Given the description of an element on the screen output the (x, y) to click on. 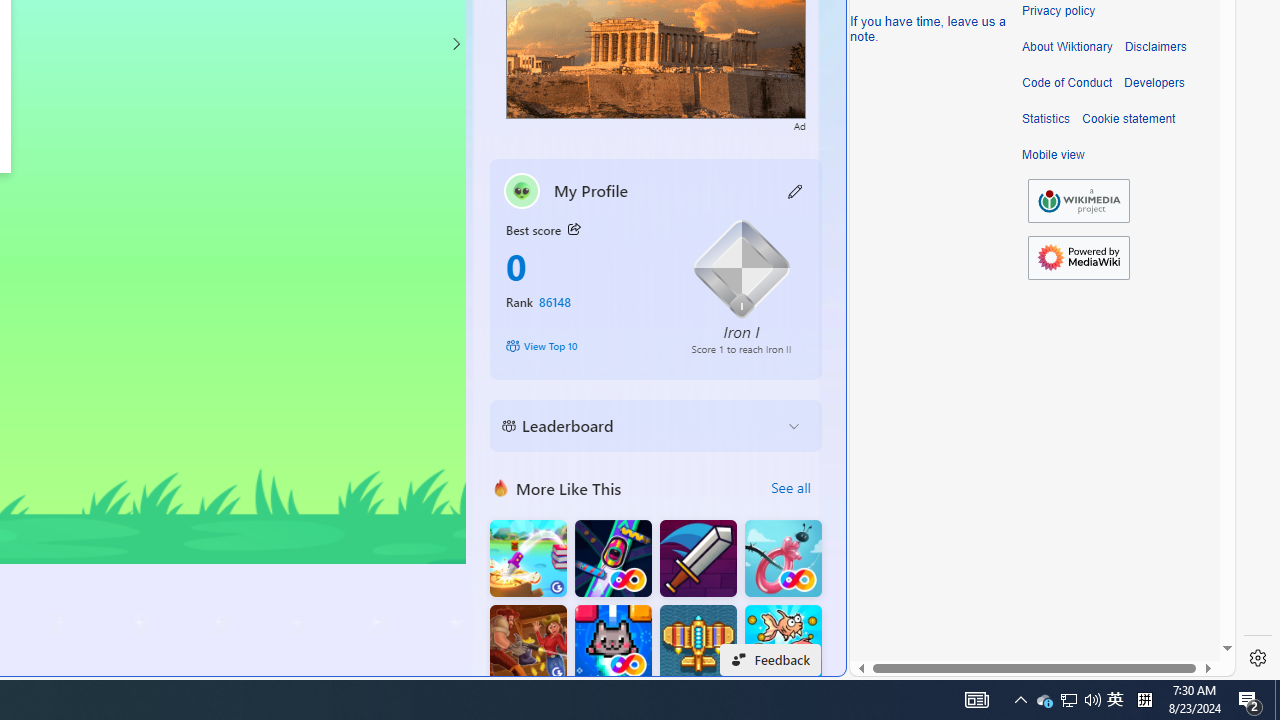
Bumper Car FRVR (612, 558)
Atlantic Sky Hunter (698, 643)
Cookie statement (1128, 119)
""'s avatar (522, 190)
Code of Conduct (1067, 83)
Class: button edit-icon (795, 190)
Knife Flip (528, 558)
Saloon Robbery (528, 643)
Powered by MediaWiki (1078, 257)
